Given the description of an element on the screen output the (x, y) to click on. 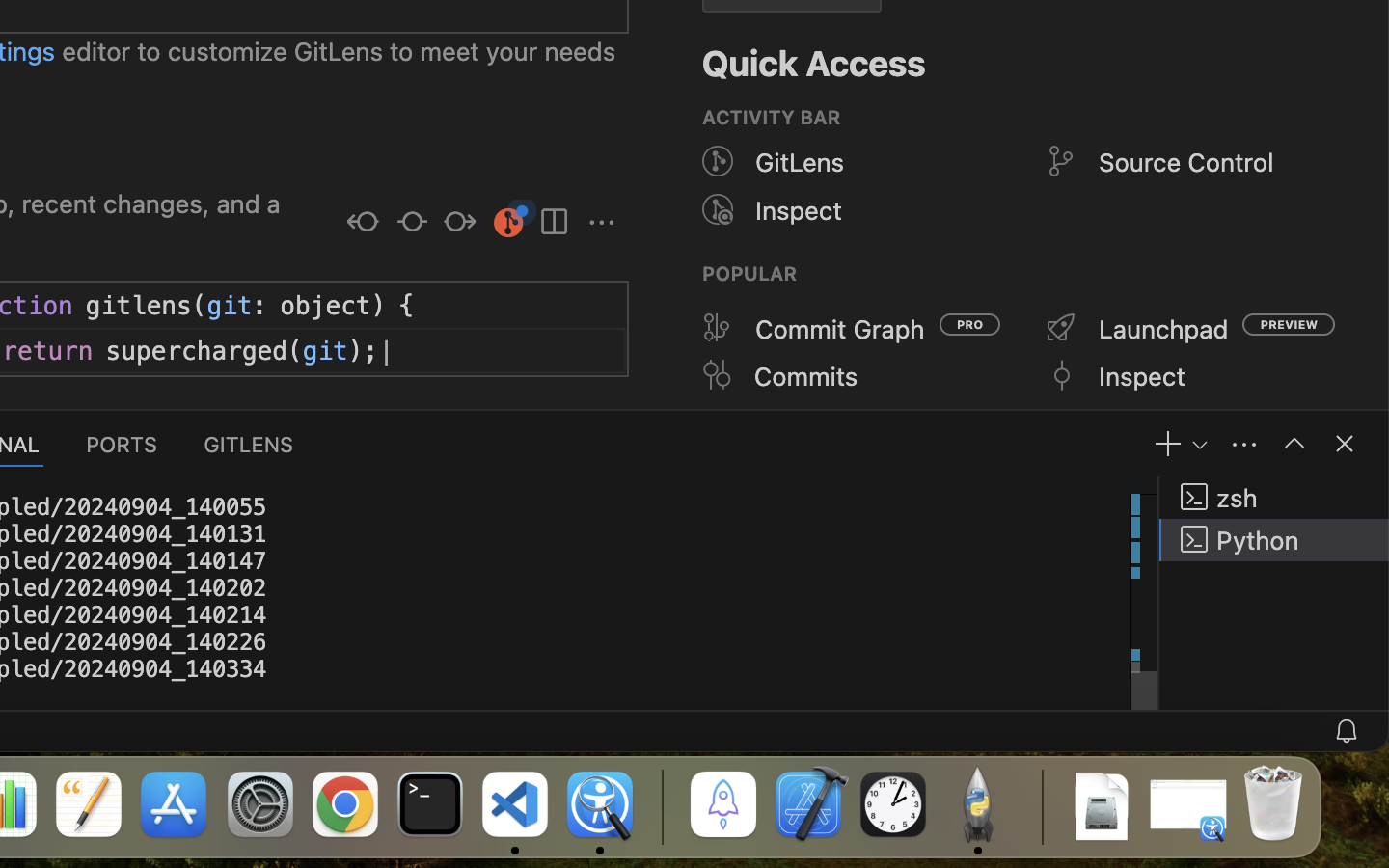
Commits Element type: AXStaticText (806, 375)
 Element type: AXStaticText (1060, 374)
 Element type: AXButton (1344, 443)
GitLens Element type: AXStaticText (800, 162)
Source Control Element type: AXStaticText (1187, 162)
